Given the description of an element on the screen output the (x, y) to click on. 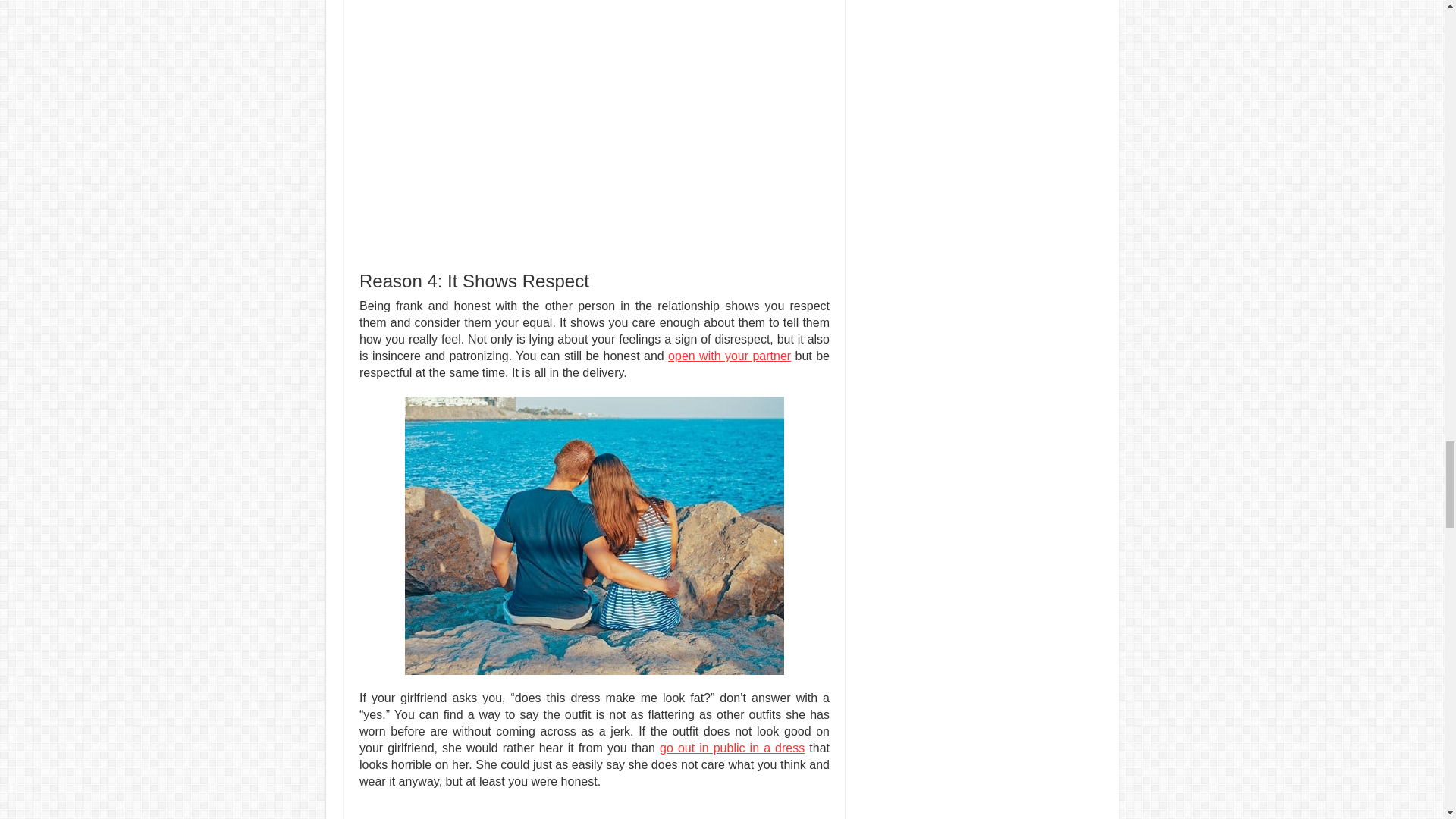
go out in public in a dress (732, 748)
open with your partner (729, 355)
